Given the description of an element on the screen output the (x, y) to click on. 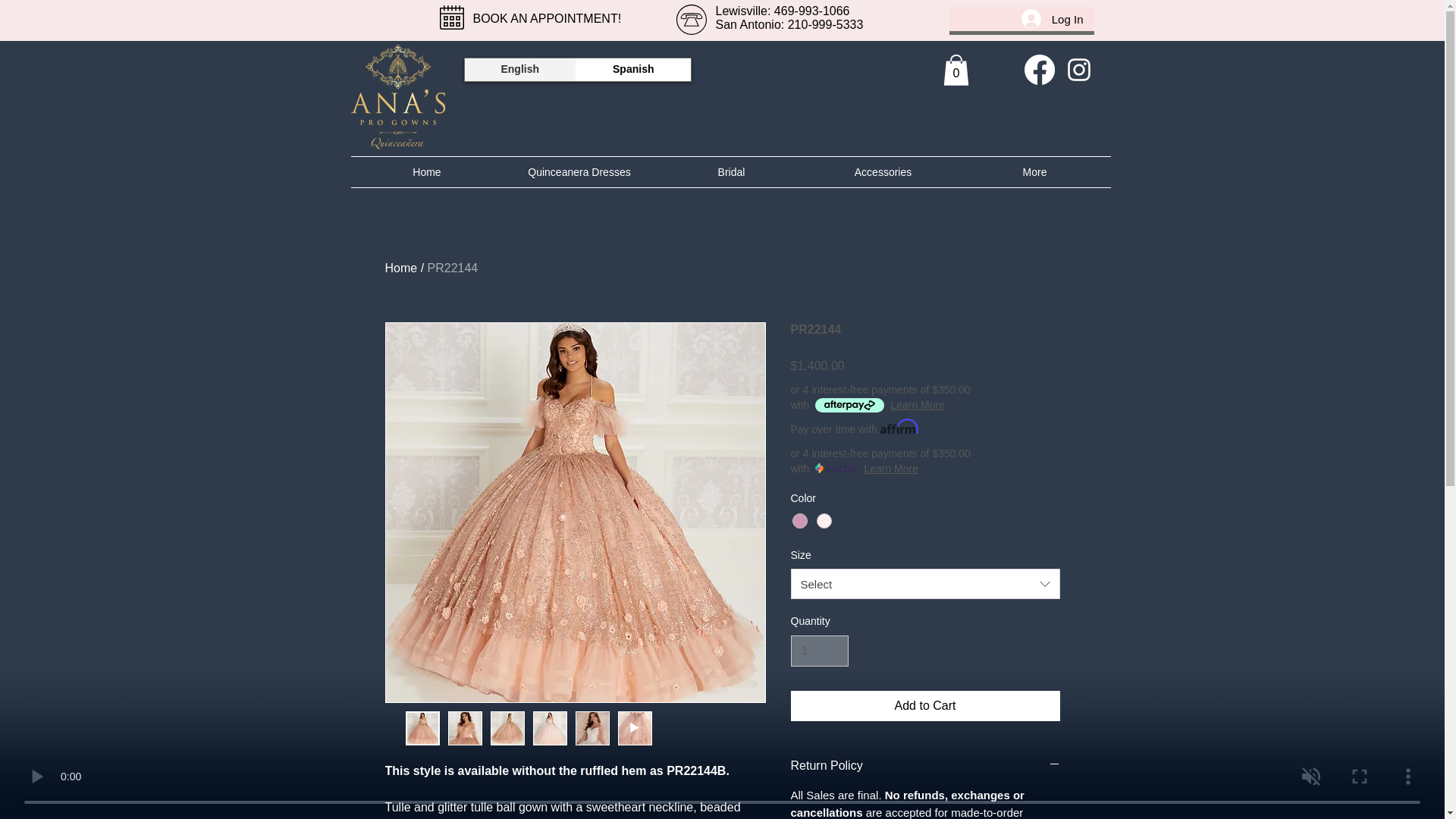
Learn More (916, 404)
1 (818, 650)
Learn More (890, 468)
Log In (1052, 18)
Select (924, 583)
Quinceanera Dresses (579, 172)
PR22144 (453, 267)
Site Search (812, 77)
Bridal (730, 172)
Home (426, 172)
Home (401, 267)
Accessories (882, 172)
BOOK AN APPOINTMENT! (547, 19)
English (519, 69)
Add to Cart (924, 706)
